Given the description of an element on the screen output the (x, y) to click on. 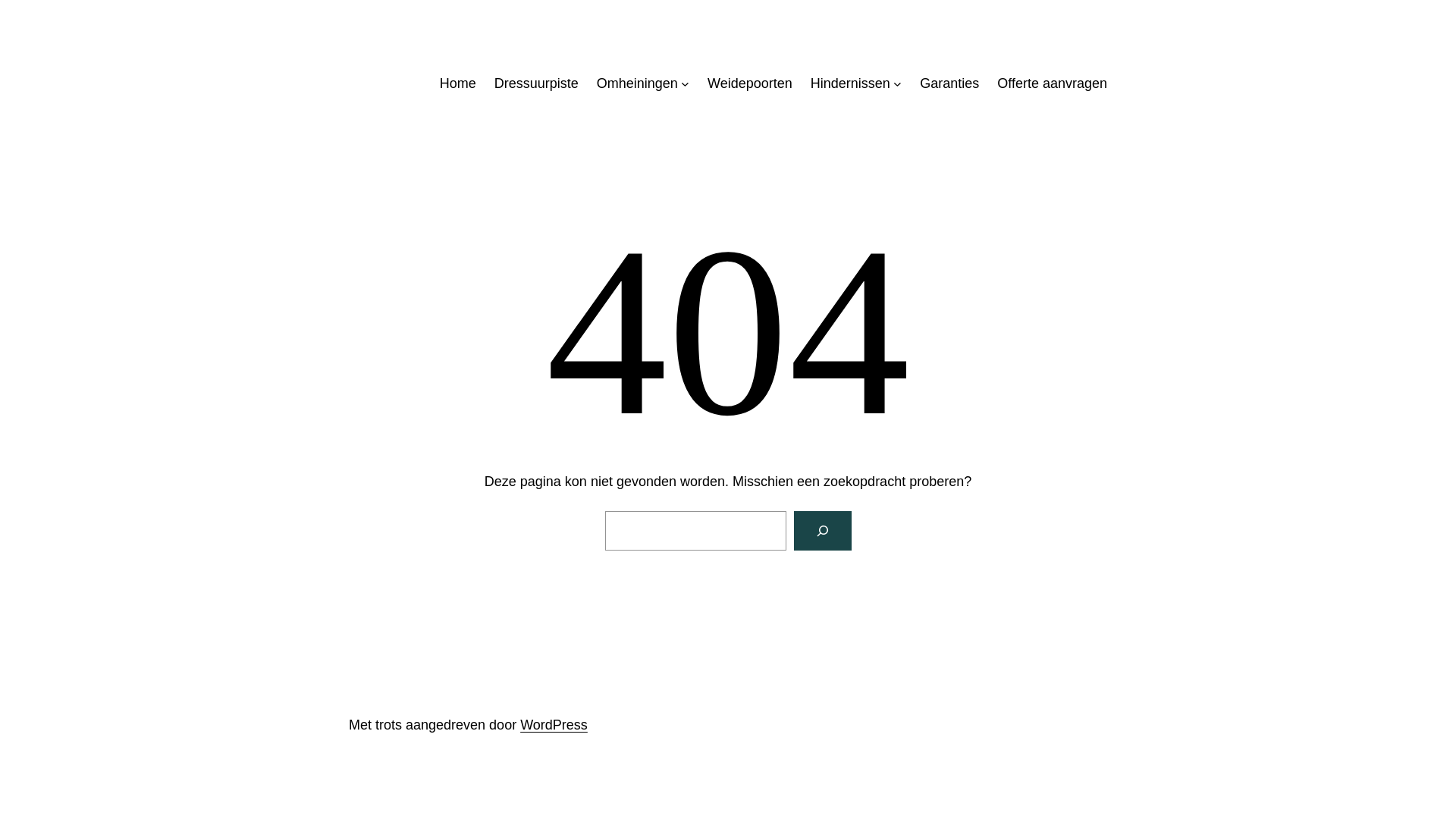
Hindernissen Element type: text (850, 83)
Home Element type: text (457, 83)
Omheiningen Element type: text (636, 83)
Dressuurpiste Element type: text (536, 83)
WordPress Element type: text (553, 724)
Weidepoorten Element type: text (749, 83)
Offerte aanvragen Element type: text (1052, 83)
Garanties Element type: text (949, 83)
